Given the description of an element on the screen output the (x, y) to click on. 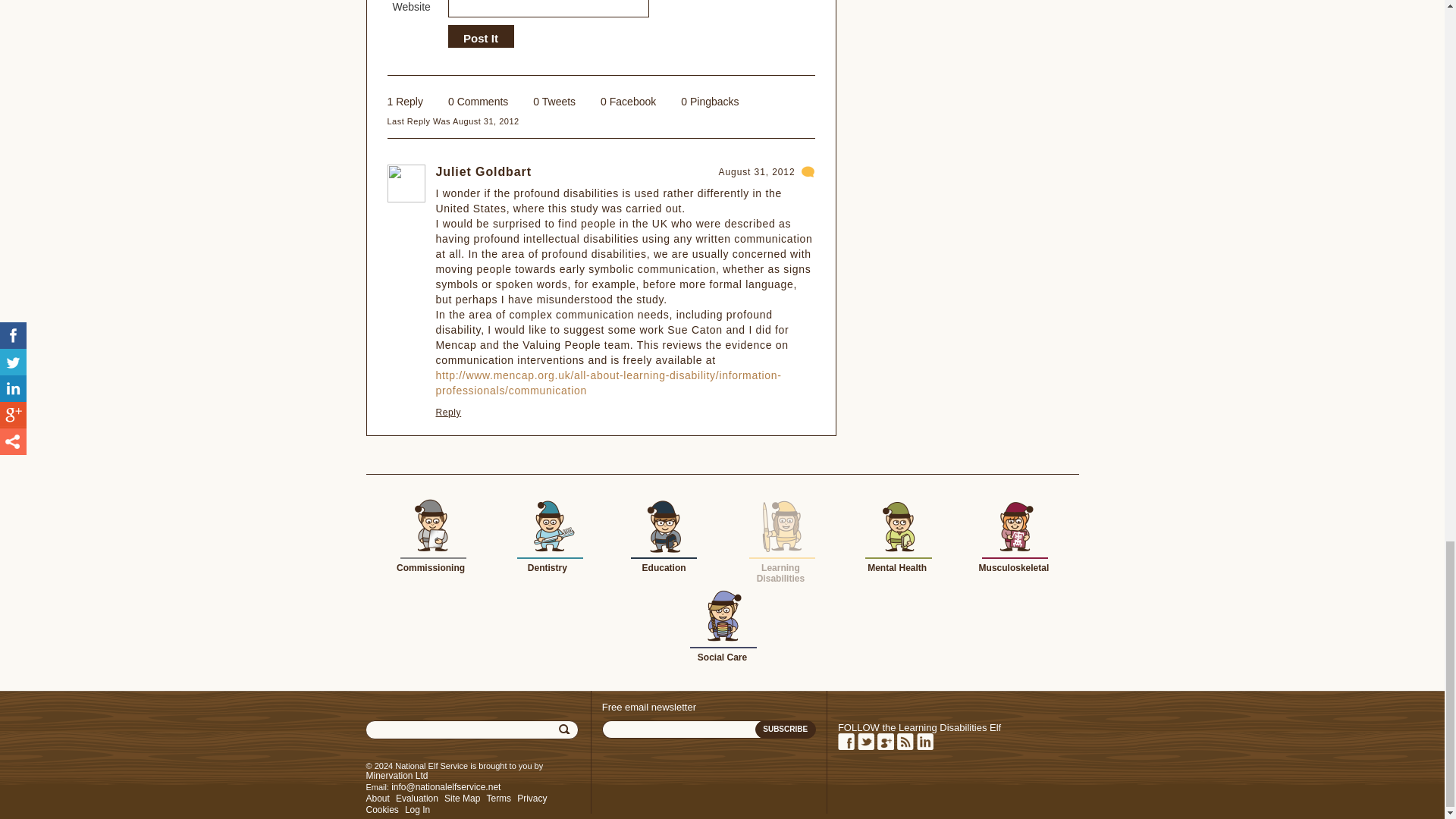
Search (565, 729)
Subscribe (785, 729)
Post It (479, 38)
